Given the description of an element on the screen output the (x, y) to click on. 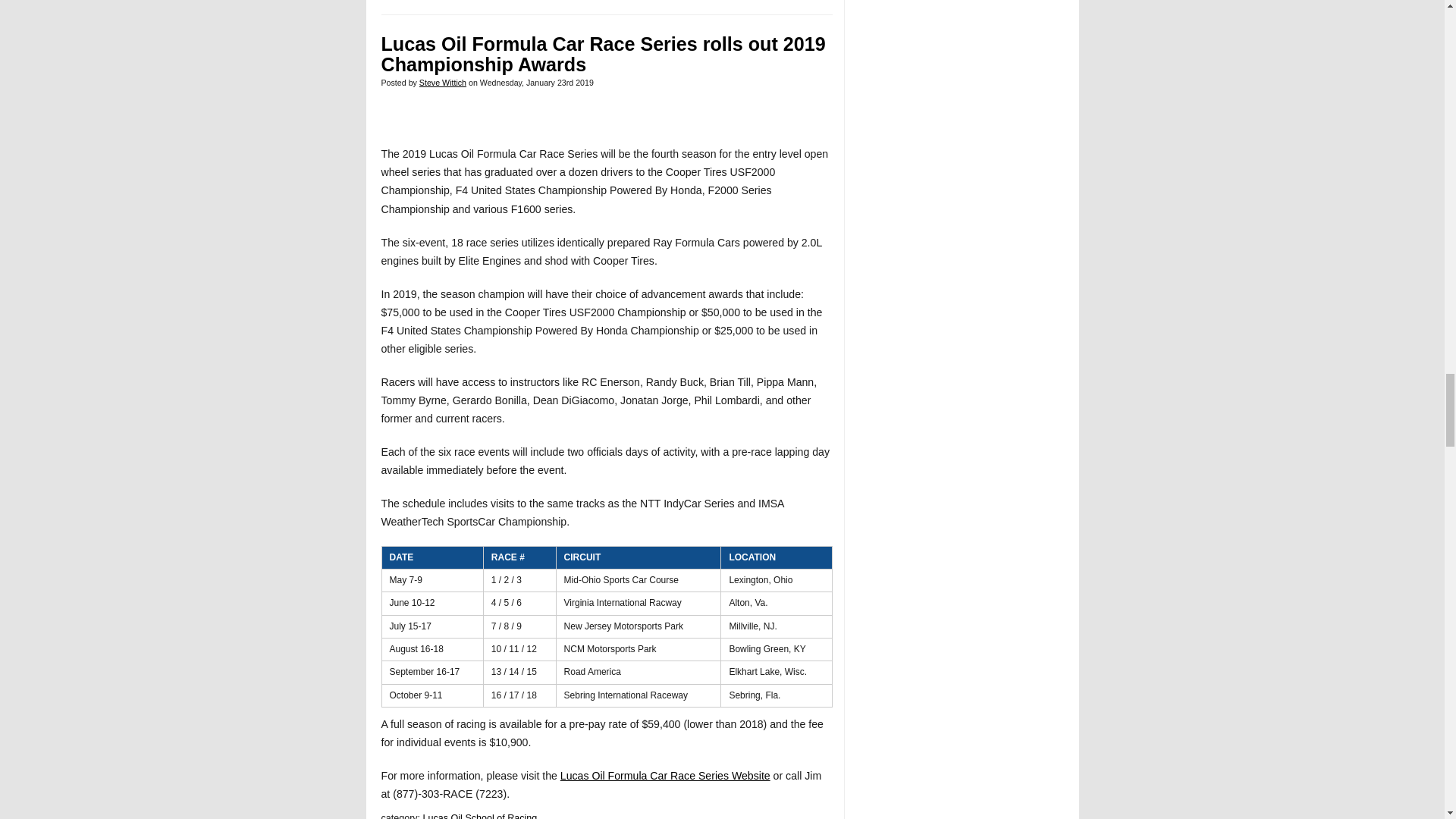
Steve Wittich (442, 81)
Lucas Oil School of Racing (480, 816)
Lucas Oil Formula Car Race Series Website (665, 775)
Posts by Steve Wittich (442, 81)
